Given the description of an element on the screen output the (x, y) to click on. 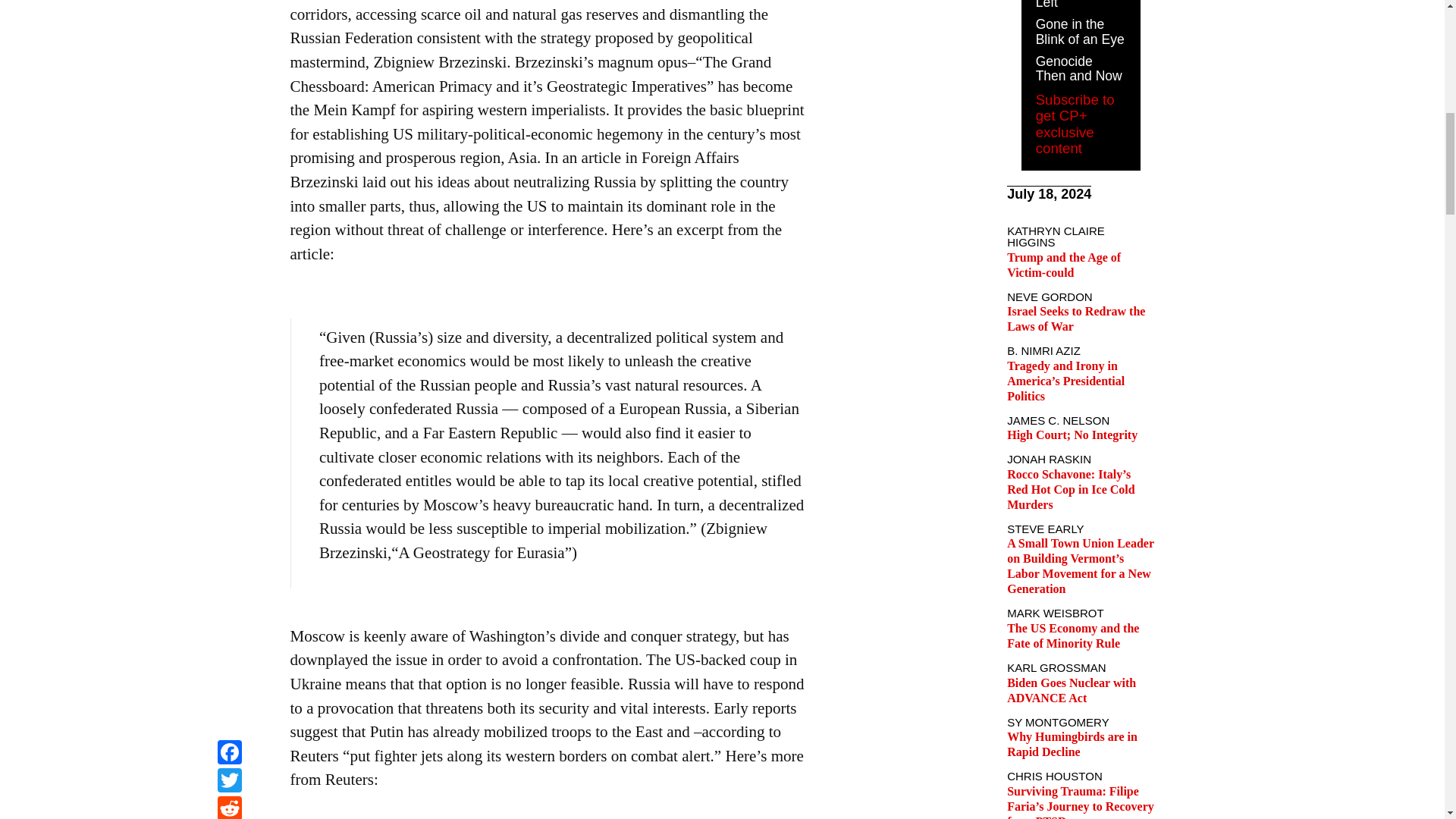
Email (229, 18)
Email (229, 18)
Reddit (229, 2)
Reddit (229, 2)
